Given the description of an element on the screen output the (x, y) to click on. 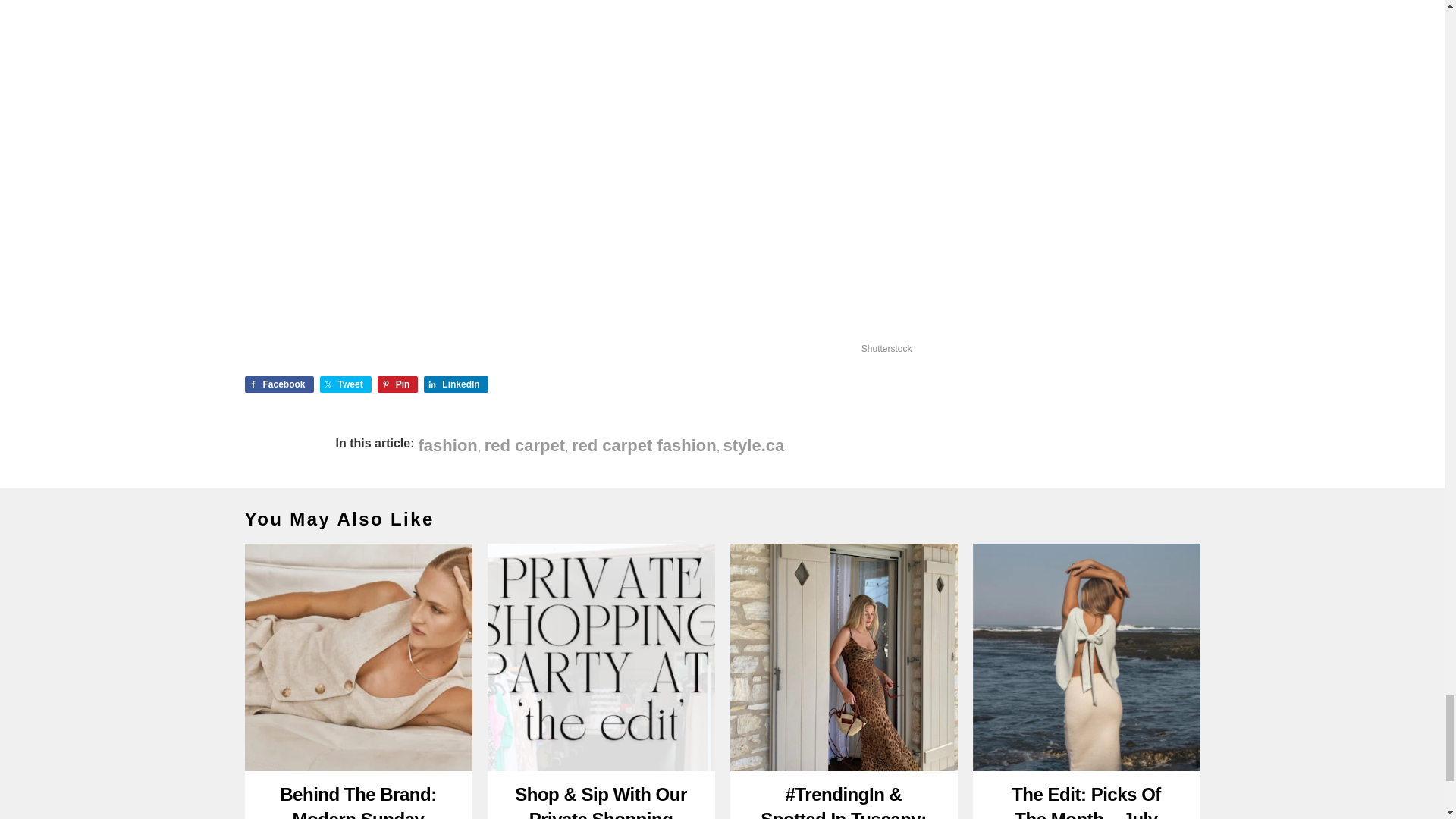
Share on Twitter (345, 384)
Share on LinkedIn (455, 384)
Share on Pinterest (398, 384)
Share on Facebook (278, 384)
